Given the description of an element on the screen output the (x, y) to click on. 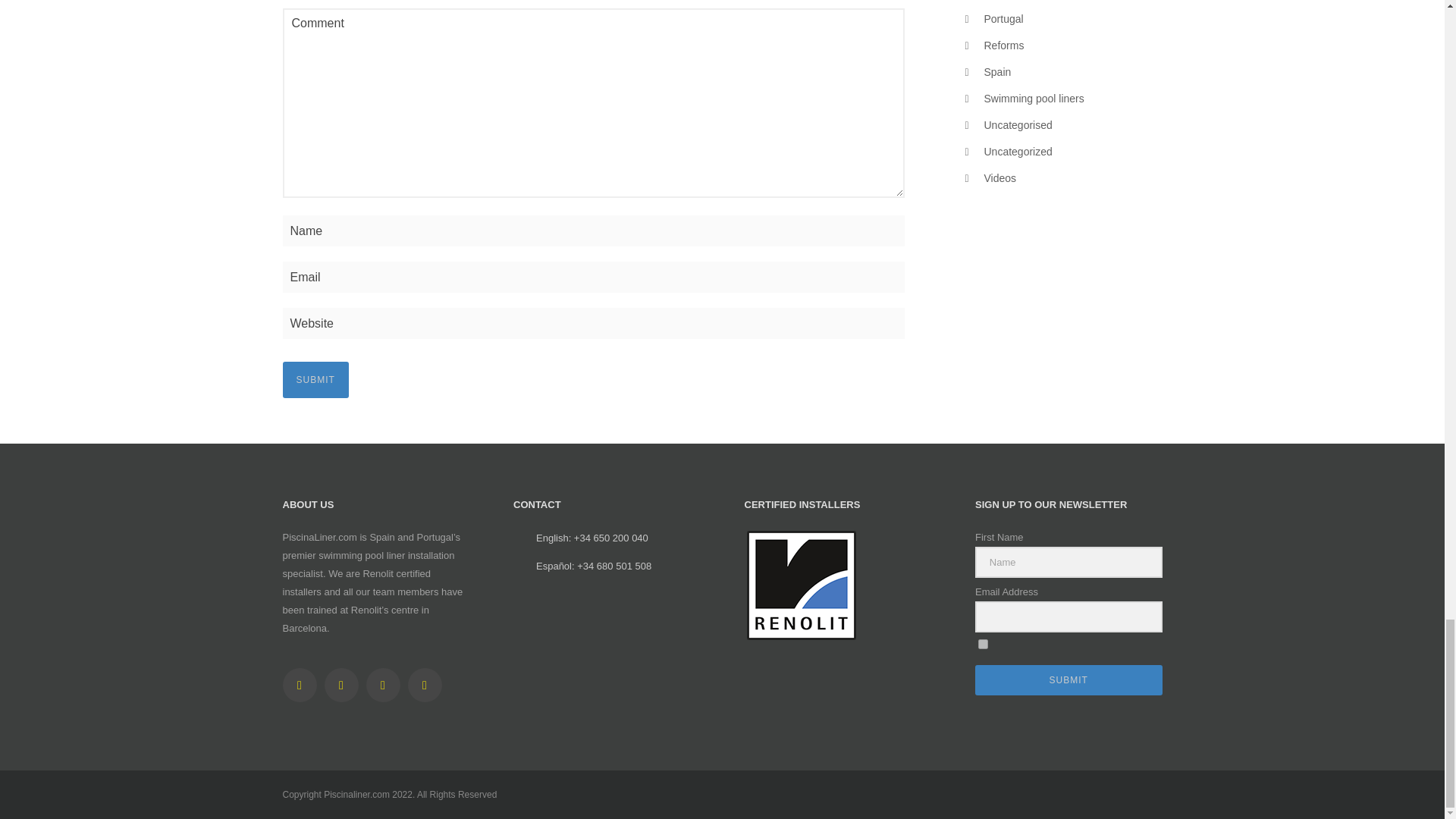
Submit (314, 379)
Submit (314, 379)
1 (983, 644)
